Given the description of an element on the screen output the (x, y) to click on. 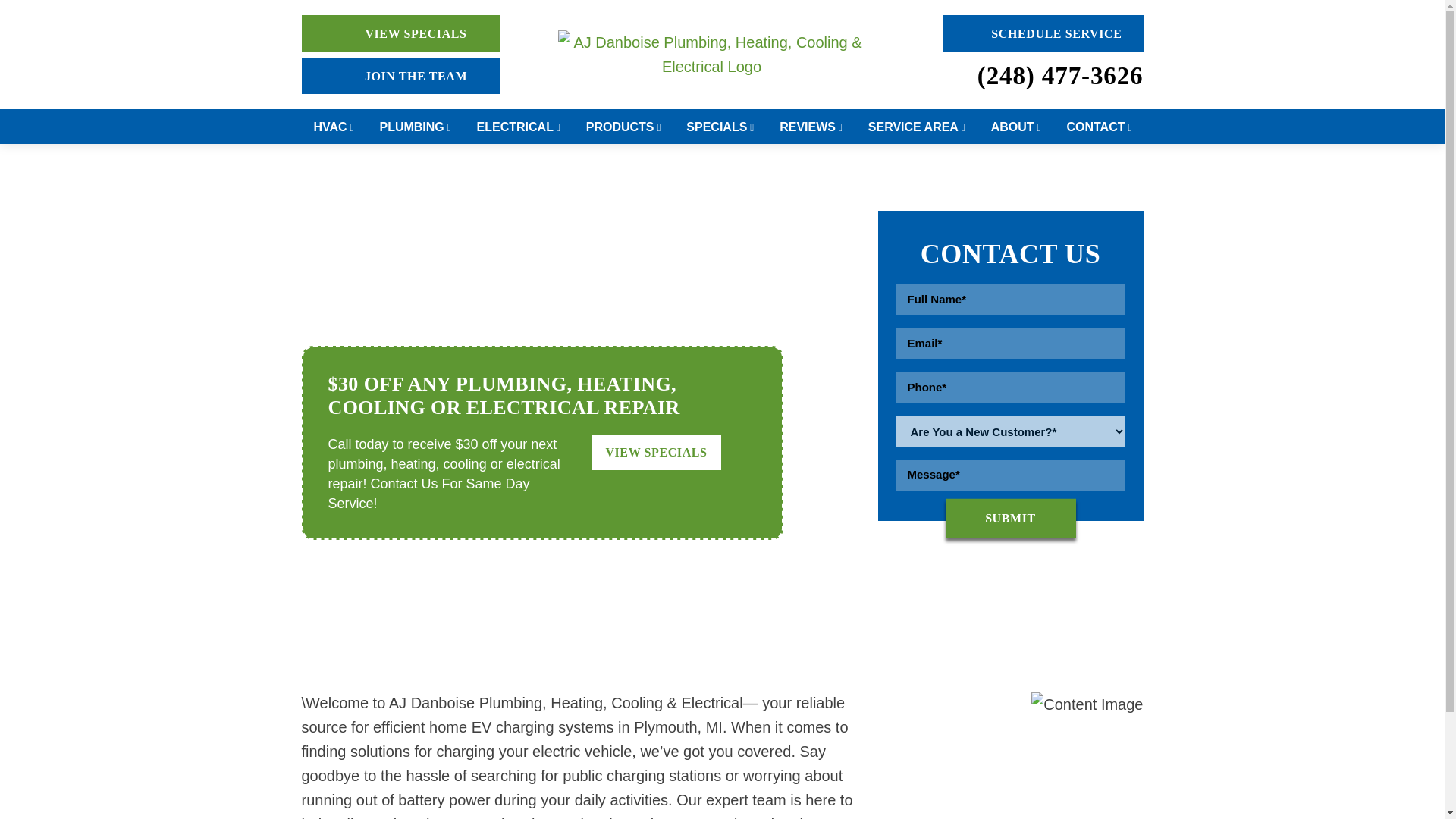
ELECTRICAL (518, 126)
JOIN THE TEAM (400, 75)
VIEW SPECIALS (400, 33)
Submit (1009, 518)
PRODUCTS (624, 126)
PLUMBING (415, 126)
SCHEDULE SERVICE (1042, 33)
HVAC (334, 126)
SPECIALS (720, 126)
